Given the description of an element on the screen output the (x, y) to click on. 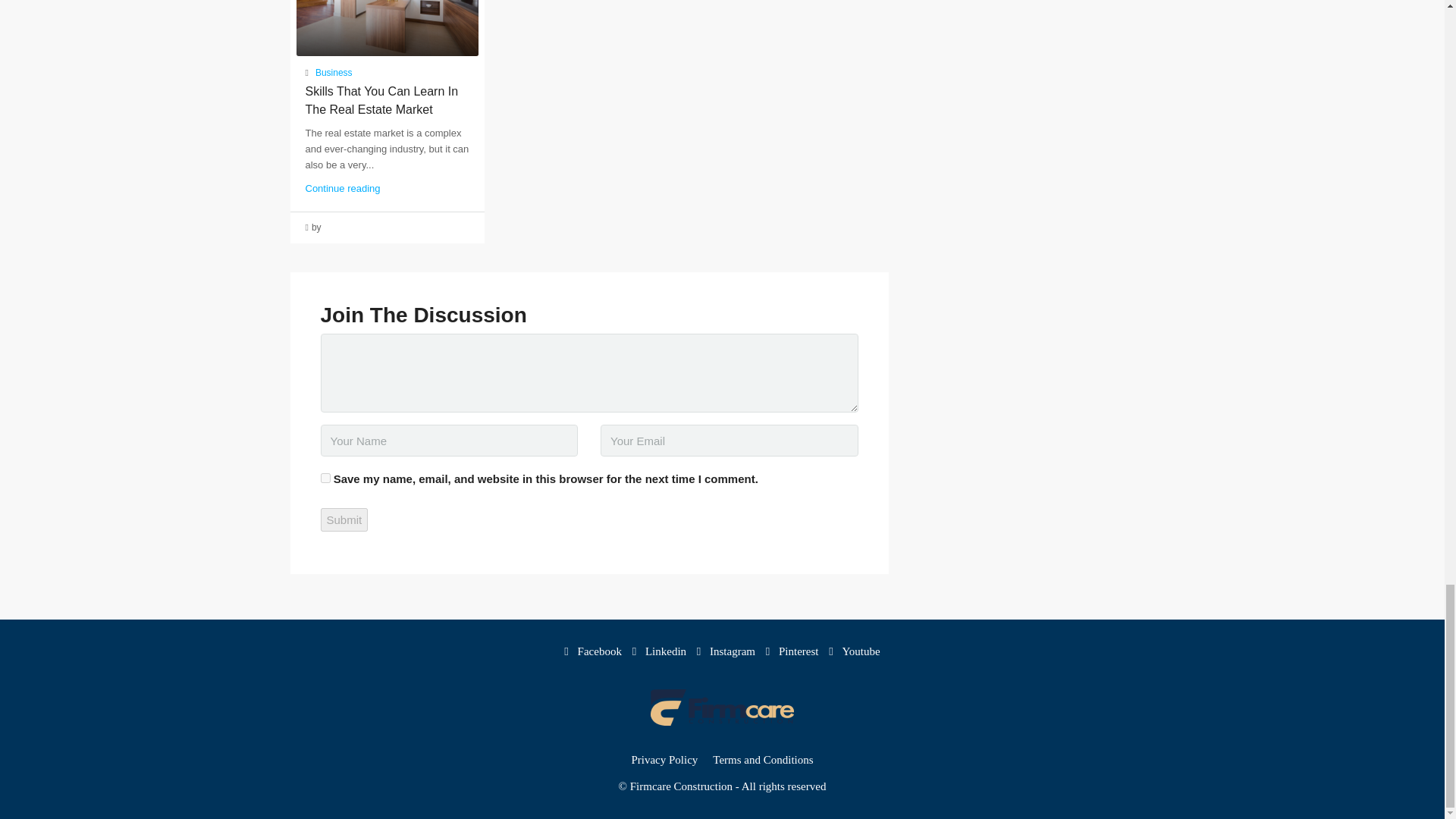
yes (325, 478)
Submit (344, 519)
Business (333, 72)
Skills That You Can Learn In The Real Estate Market (381, 100)
Continue reading (342, 188)
Submit (344, 519)
